Given the description of an element on the screen output the (x, y) to click on. 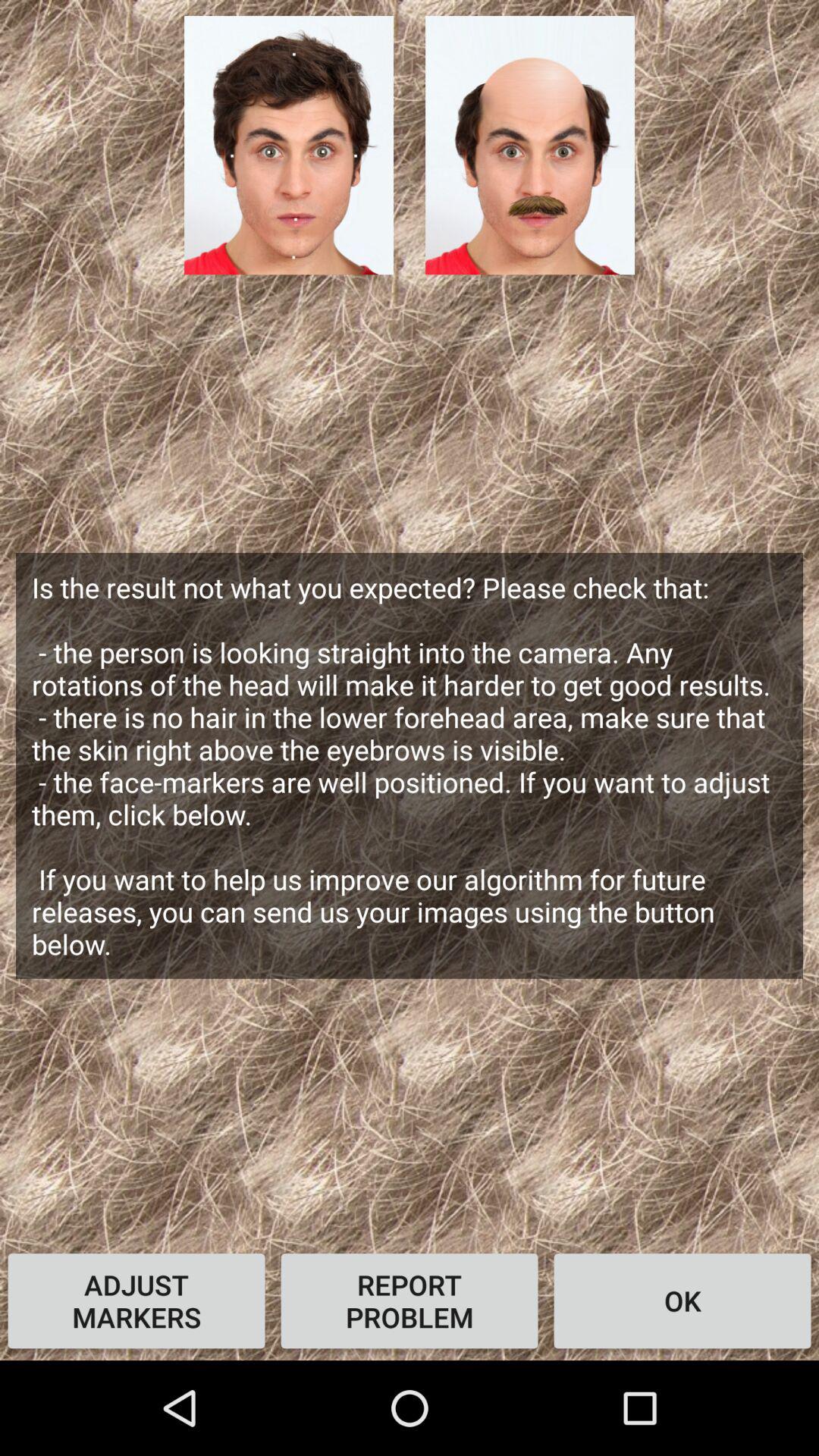
open the item next to the adjust markers icon (409, 1300)
